Given the description of an element on the screen output the (x, y) to click on. 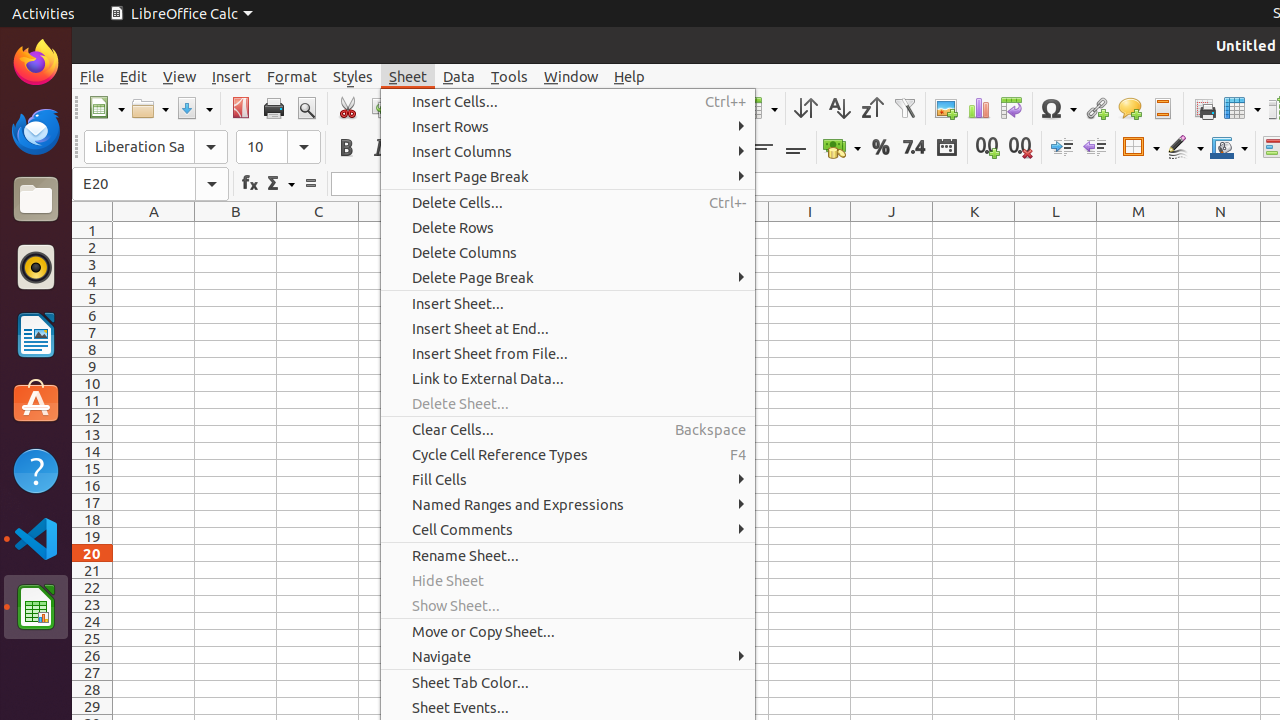
Freeze Rows and Columns Element type: push-button (1242, 108)
AutoFilter Element type: push-button (904, 108)
Date Element type: push-button (946, 147)
Print Area Element type: push-button (1203, 108)
Borders (Shift to overwrite) Element type: push-button (1141, 147)
